Given the description of an element on the screen output the (x, y) to click on. 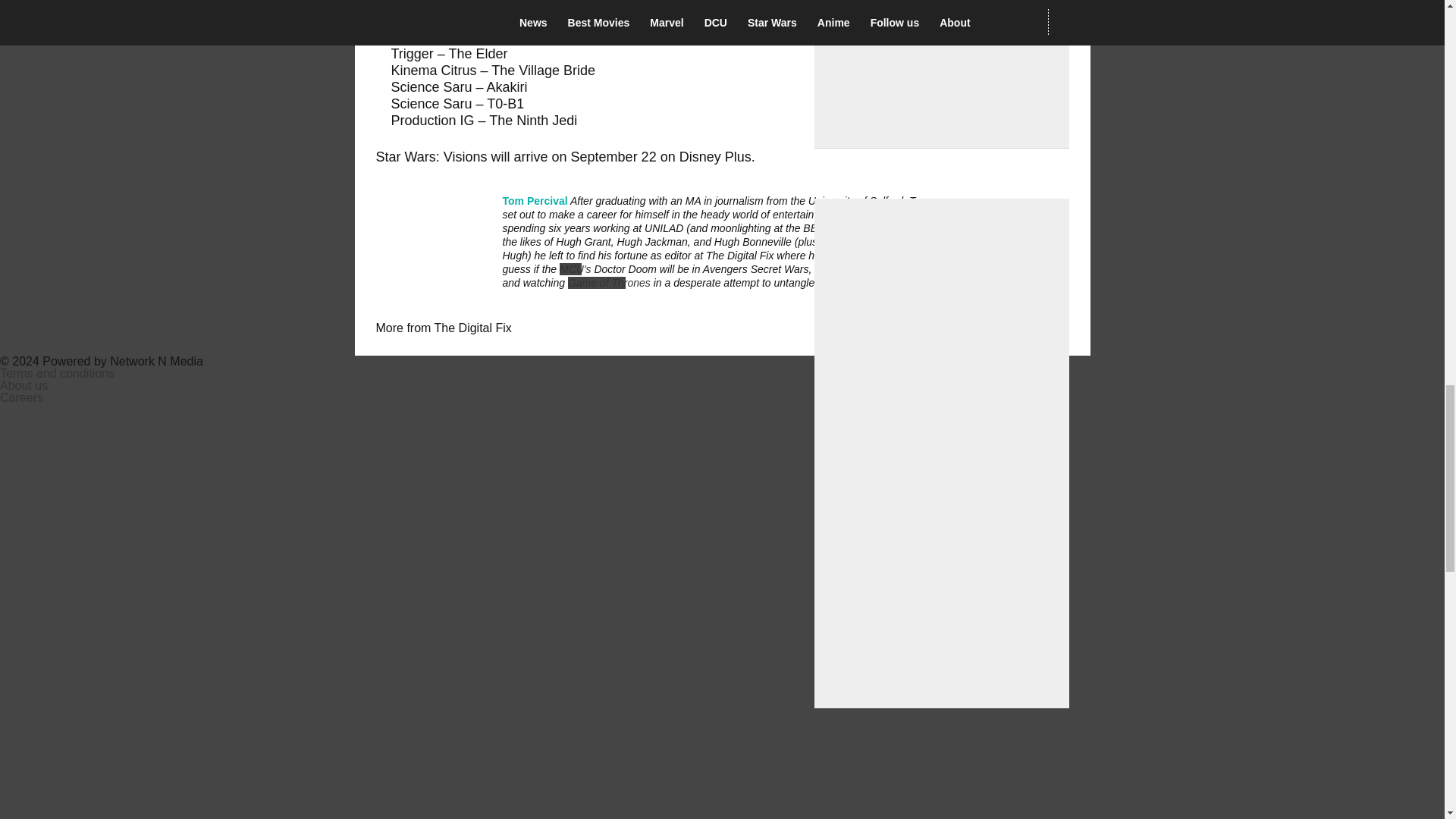
MCU's (575, 268)
Spider-Man (910, 268)
Tom Percival (534, 201)
